Given the description of an element on the screen output the (x, y) to click on. 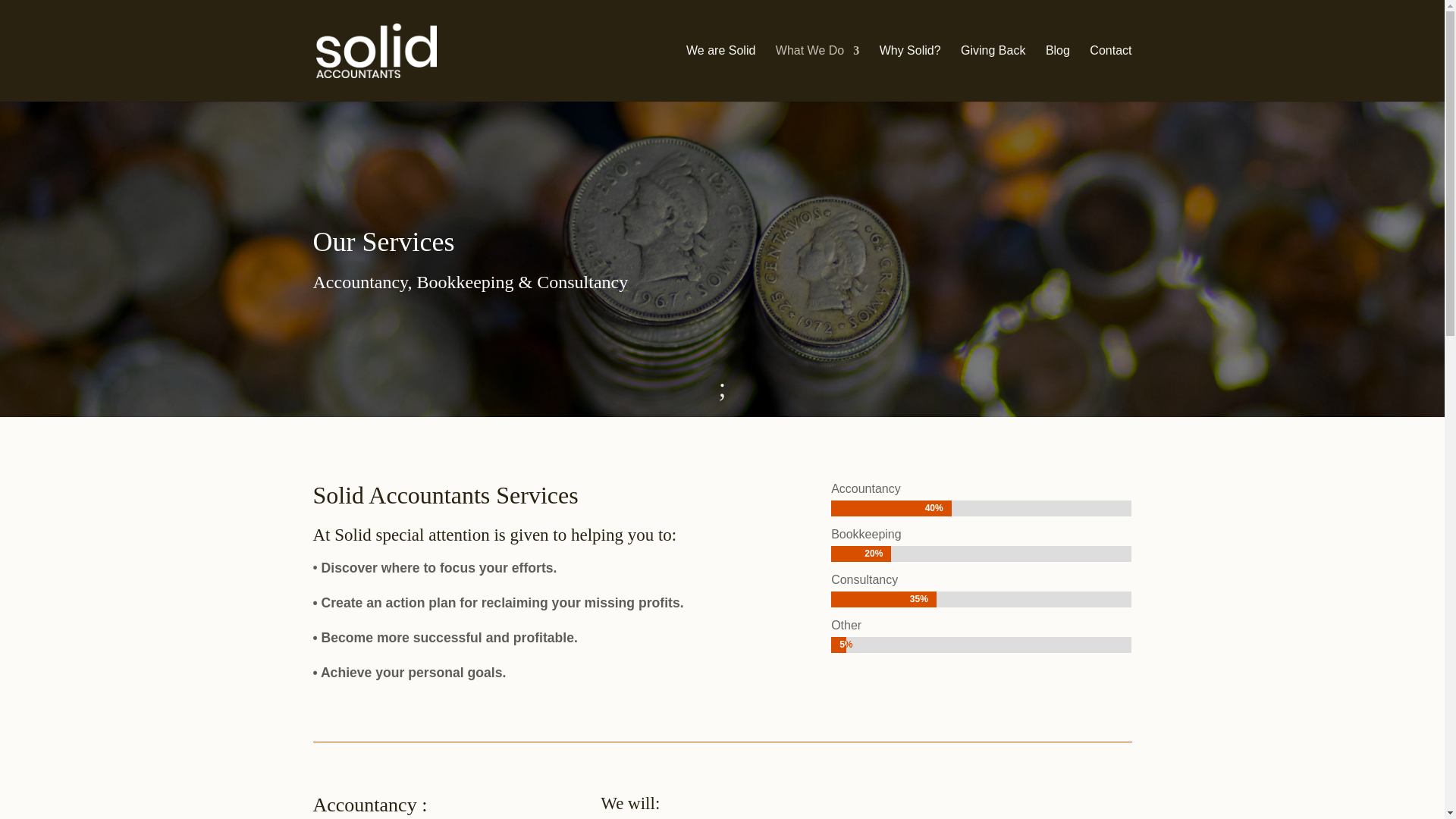
We are Solid (720, 73)
Giving Back (992, 73)
Why Solid? (909, 73)
What We Do (817, 73)
